Given the description of an element on the screen output the (x, y) to click on. 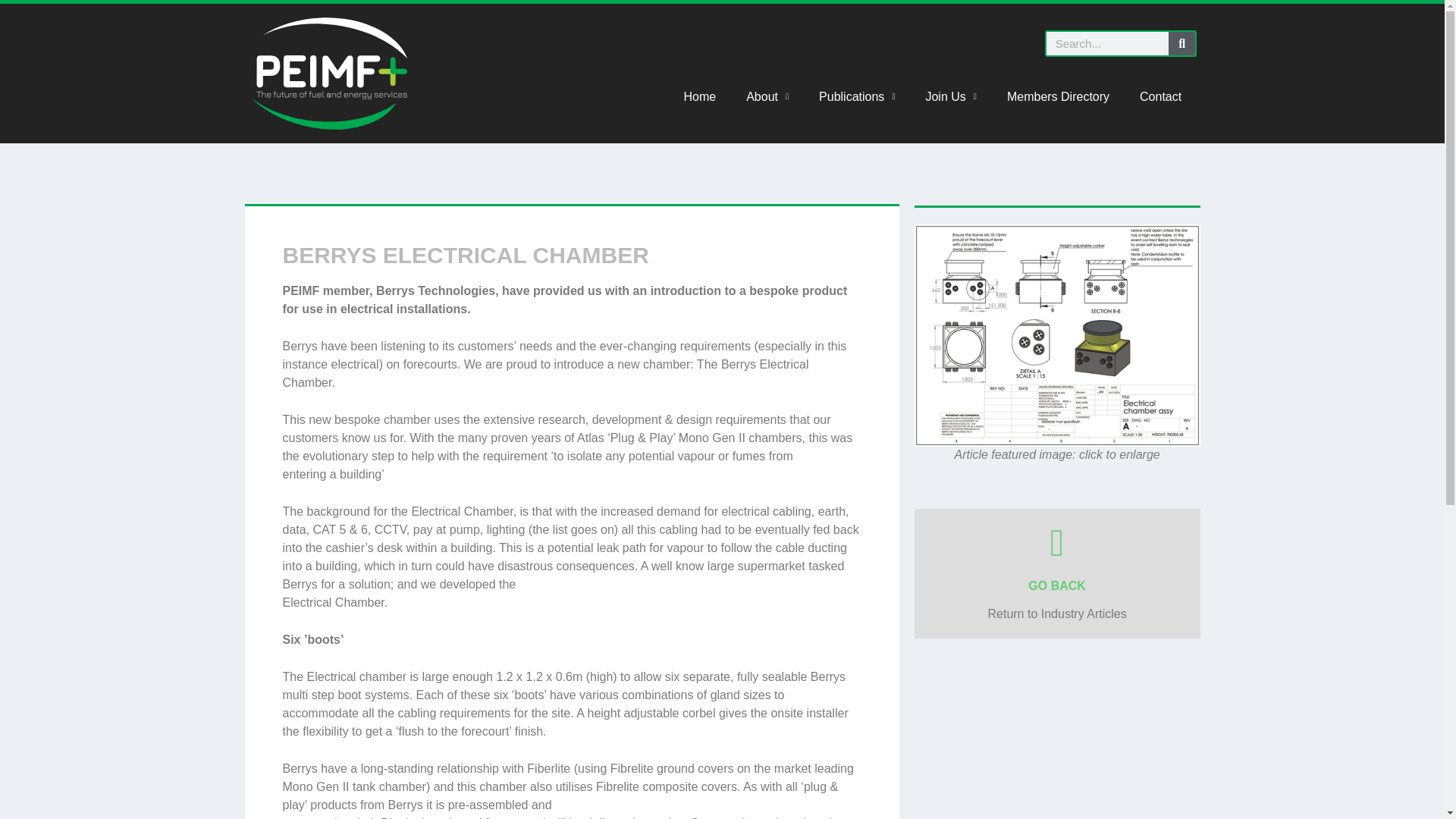
Contact (1160, 96)
GO BACK (1056, 585)
About (766, 96)
Members Directory (1057, 96)
Join Us (950, 96)
Home (700, 96)
Publications (856, 96)
